Given the description of an element on the screen output the (x, y) to click on. 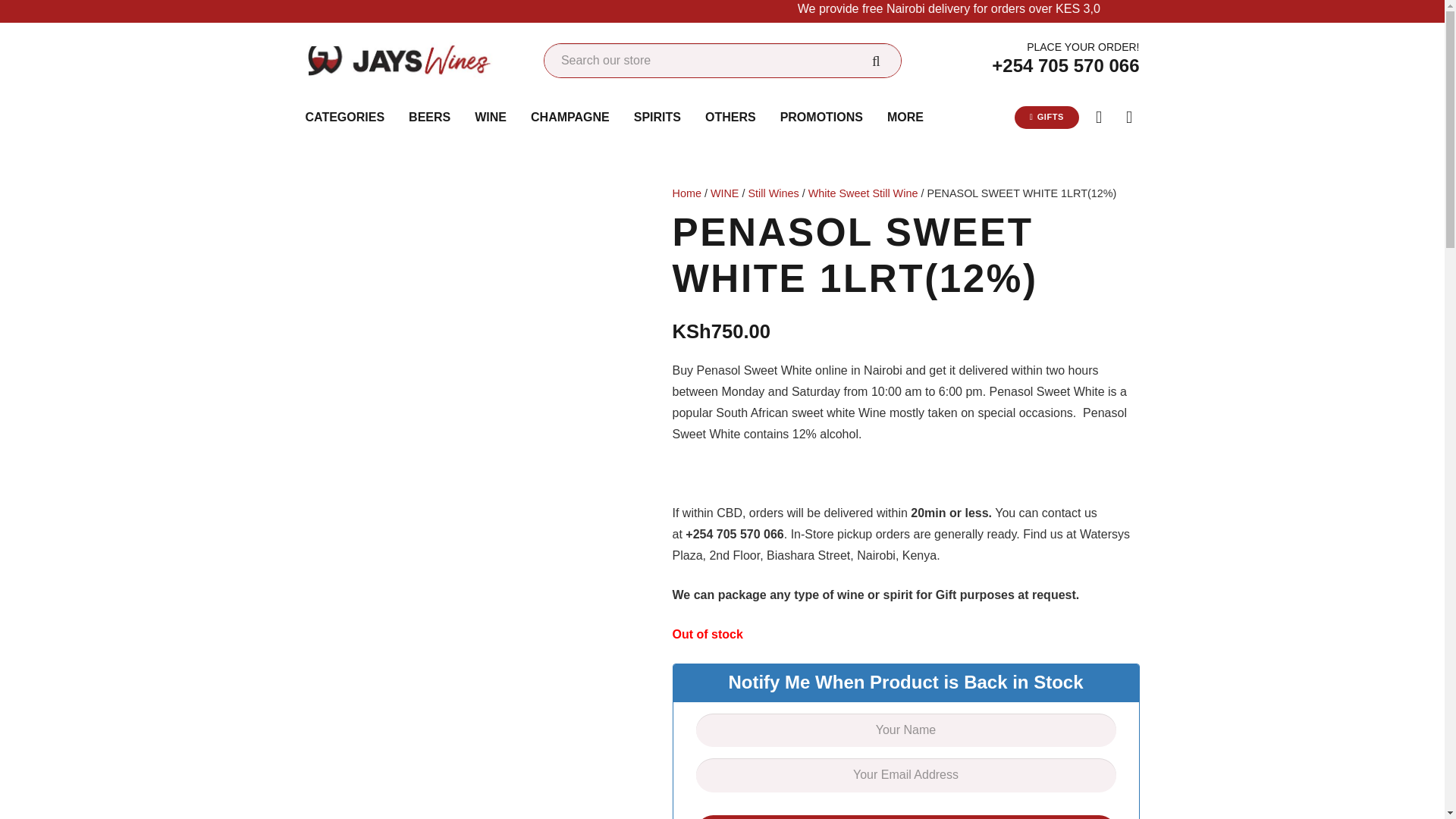
BEERS (429, 117)
CATEGORIES (344, 117)
WINE (490, 117)
